Given the description of an element on the screen output the (x, y) to click on. 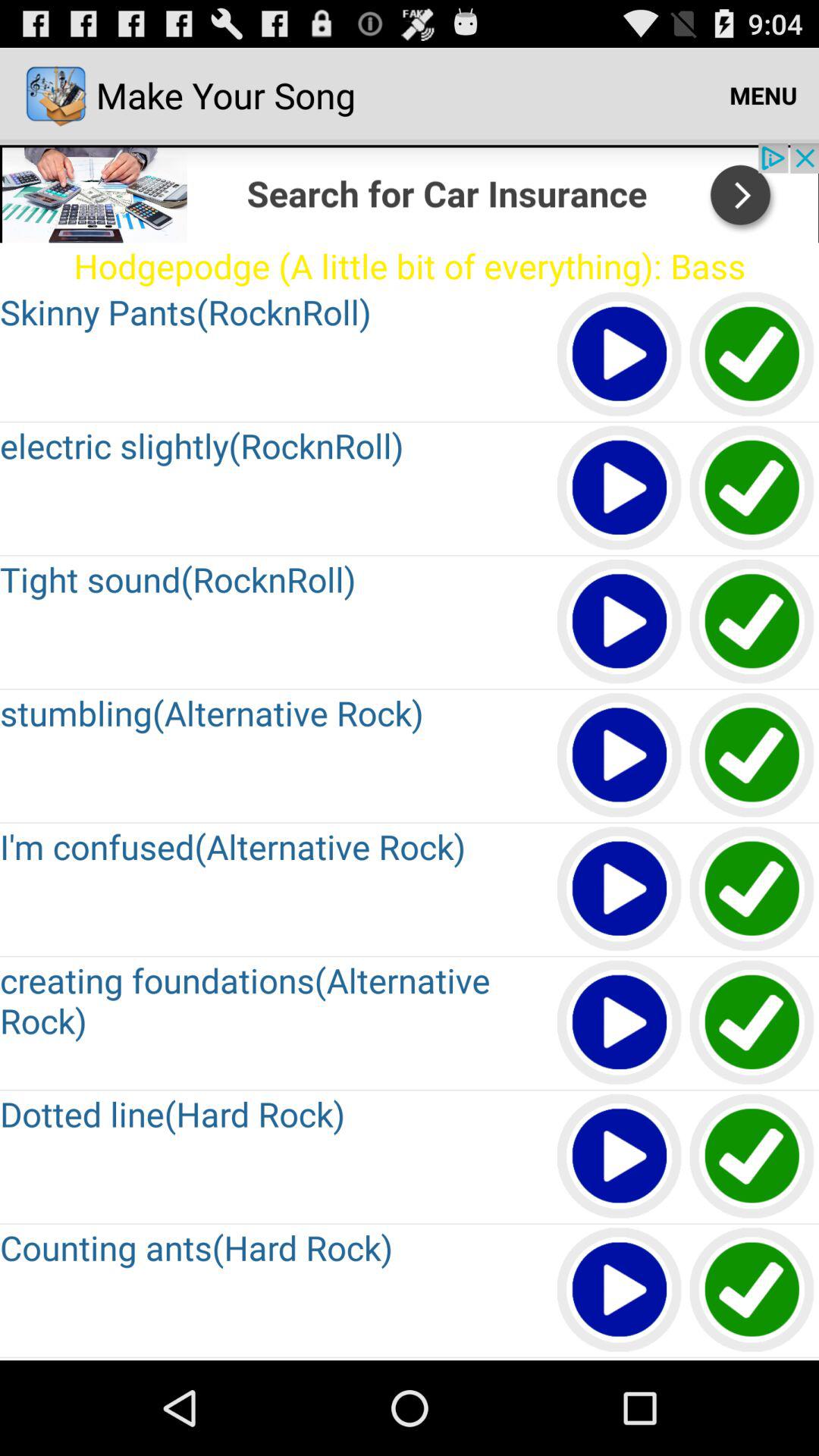
tap to select (752, 354)
